Given the description of an element on the screen output the (x, y) to click on. 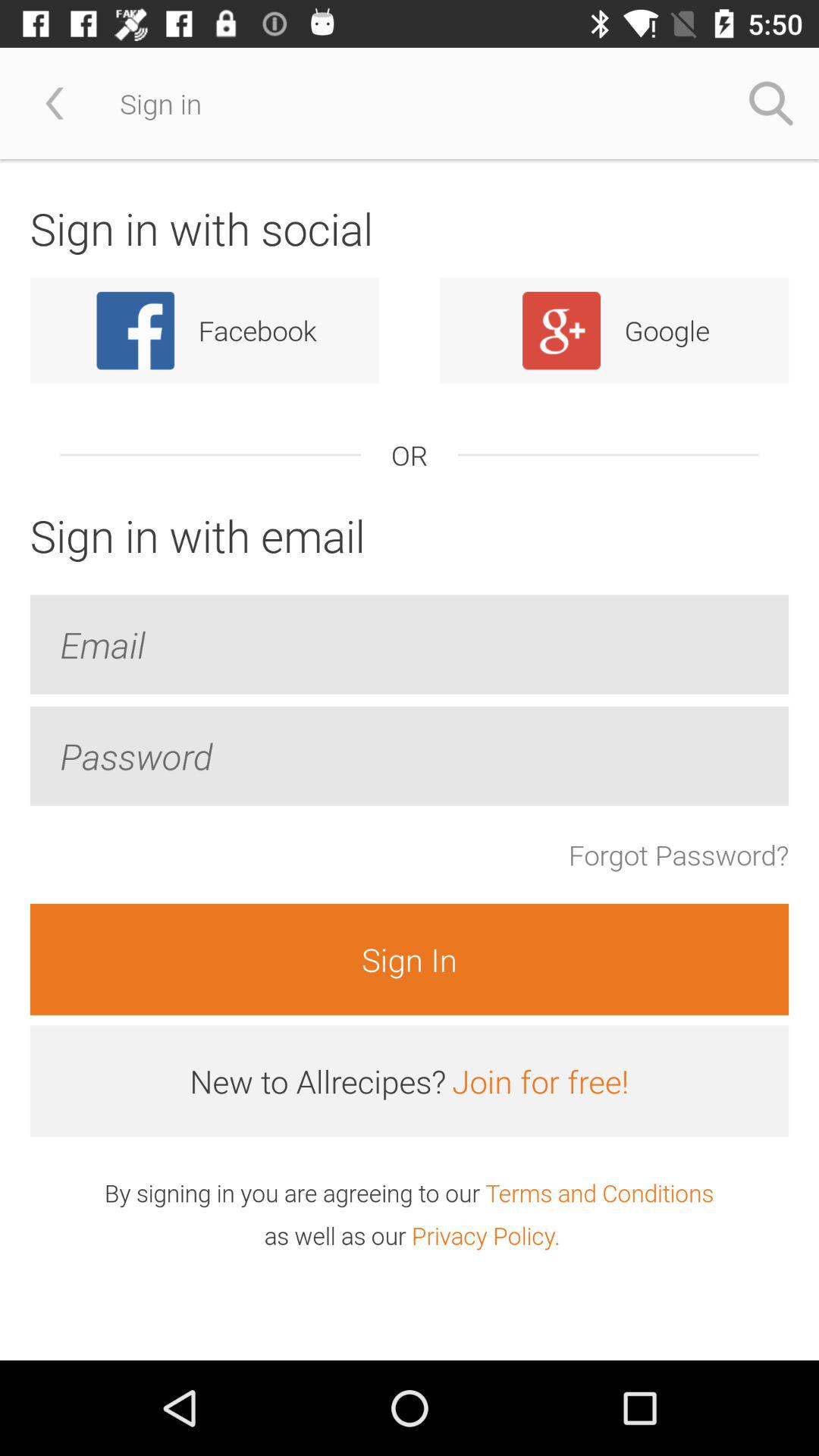
swipe until the terms and conditions (599, 1192)
